Given the description of an element on the screen output the (x, y) to click on. 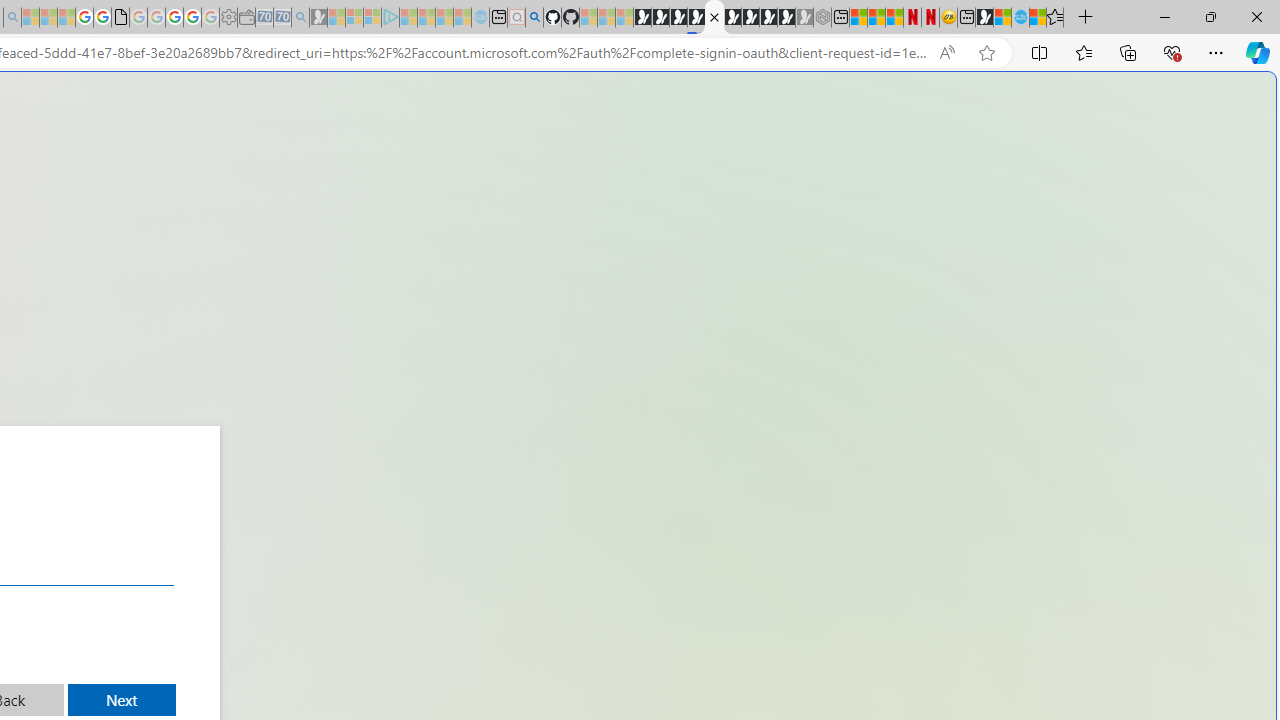
github - Search (534, 17)
